Given the description of an element on the screen output the (x, y) to click on. 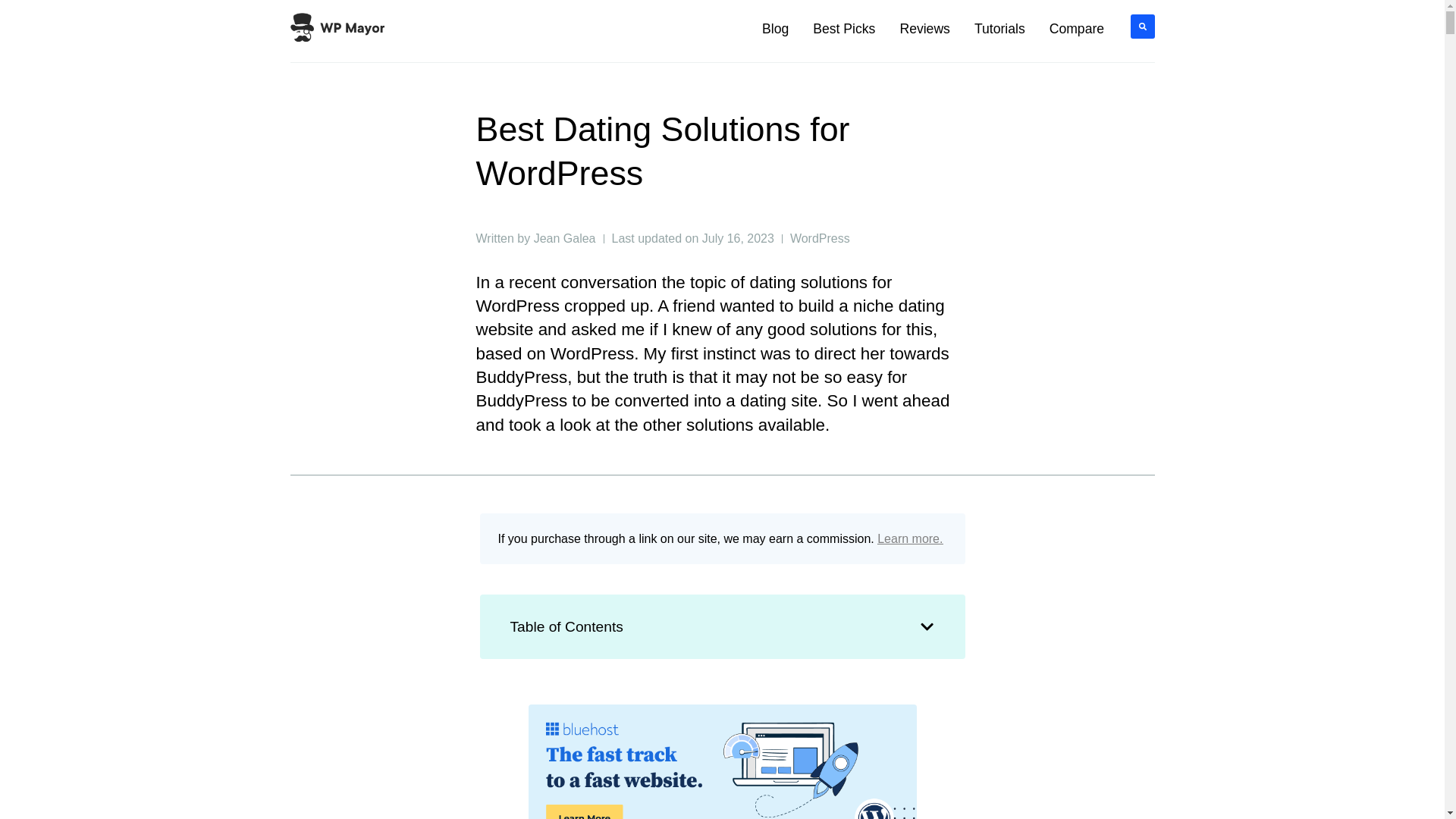
Learn more. (909, 538)
Best Picks (843, 28)
Blog (774, 28)
Compare (1076, 28)
Reviews (924, 28)
Written by Jean Galea (535, 237)
WordPress (820, 237)
Tutorials (999, 28)
